Given the description of an element on the screen output the (x, y) to click on. 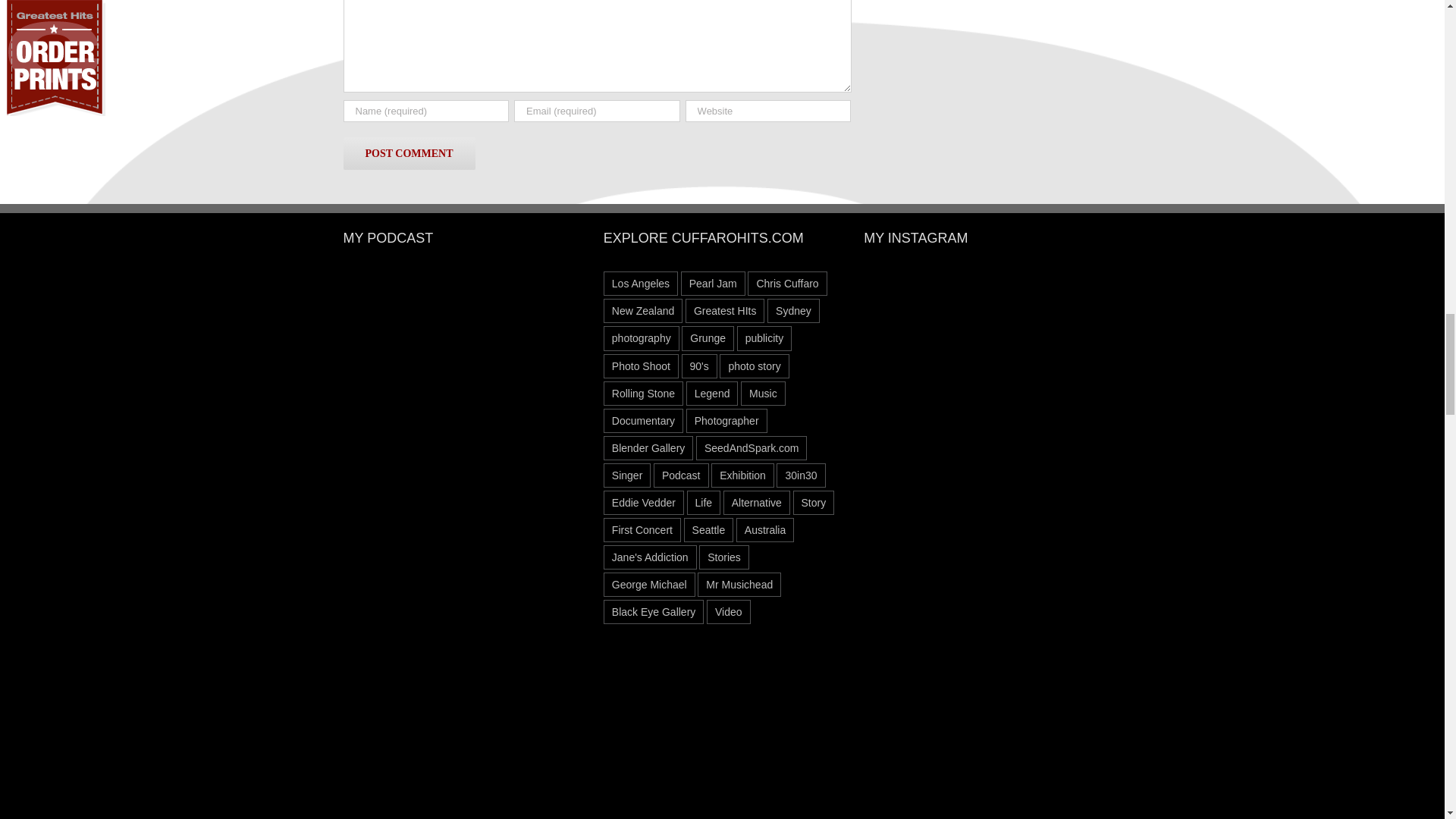
23 topics (713, 283)
28 topics (641, 283)
Post Comment (408, 153)
